Given the description of an element on the screen output the (x, y) to click on. 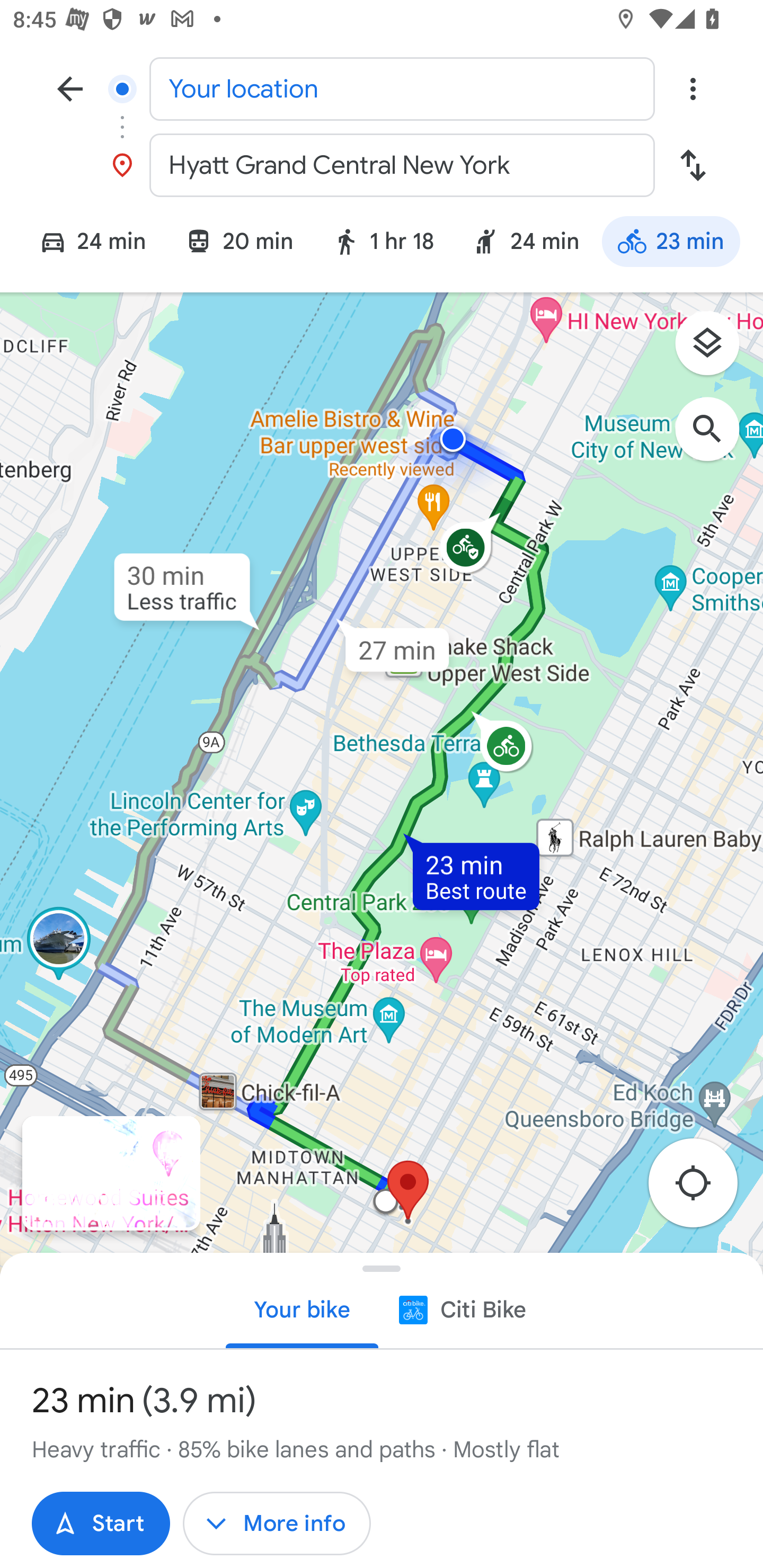
Navigate up (70, 88)
Your location Start location, Your location (381, 88)
Overflow menu (692, 88)
Swap start and destination (692, 165)
Driving mode: 24 min 24 min (84, 244)
Transit mode: 20 min 20 min (238, 244)
Walking mode: 1 hr 18 1 hr 18 (382, 244)
Ride service: 24 min 24 min (525, 244)
Layers (716, 349)
Search along route (716, 438)
Open Immersive View for routes (110, 1173)
Re-center map to your location (702, 1188)
Citi Bike (460, 1309)
More info More info More info (276, 1522)
